Given the description of an element on the screen output the (x, y) to click on. 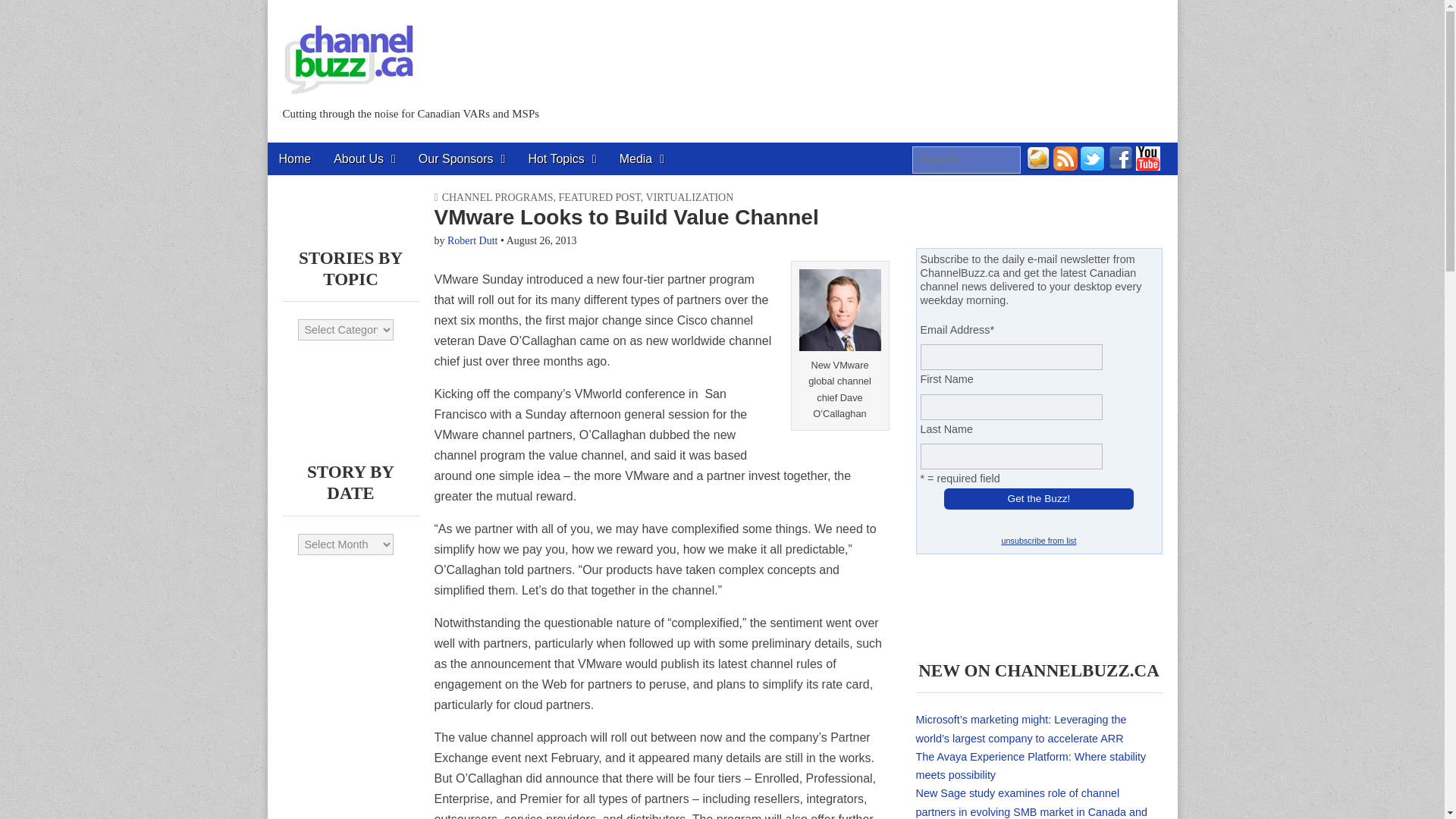
Skip to content (306, 152)
ChannelBuzz.ca's YouTube (1147, 165)
Subscribe to the ChannelBuzz.ca Daily Buzz e-mail newsletter (1037, 165)
Follow ChannelBuzz.ca on Twitter (1092, 165)
Connect with ChannelBuzz.ca on Facebook (1120, 165)
Subscribe to our RSS feed (1064, 165)
ChannelBuzz.ca (400, 148)
Posts by Robert Dutt (471, 240)
Skip to content (306, 152)
Get the Buzz! (1038, 498)
Our Sponsors (461, 158)
About Us (364, 158)
Media (641, 158)
ChannelBuzz.ca (348, 50)
Hot Topics (561, 158)
